Given the description of an element on the screen output the (x, y) to click on. 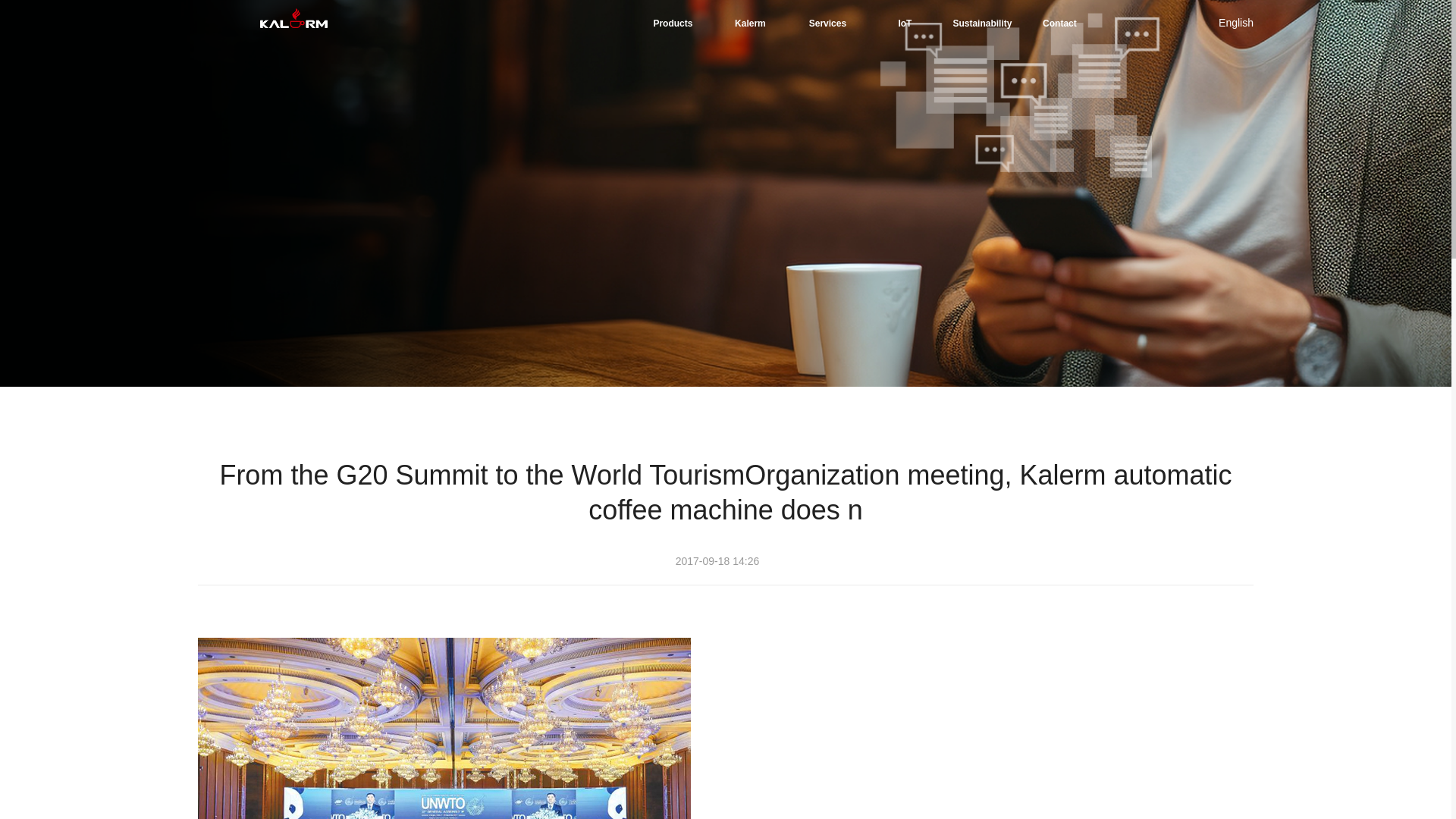
Sustainability (981, 22)
Products (672, 22)
IoT (904, 22)
Kalerm (749, 22)
Contact (1058, 22)
Services (827, 22)
